Given the description of an element on the screen output the (x, y) to click on. 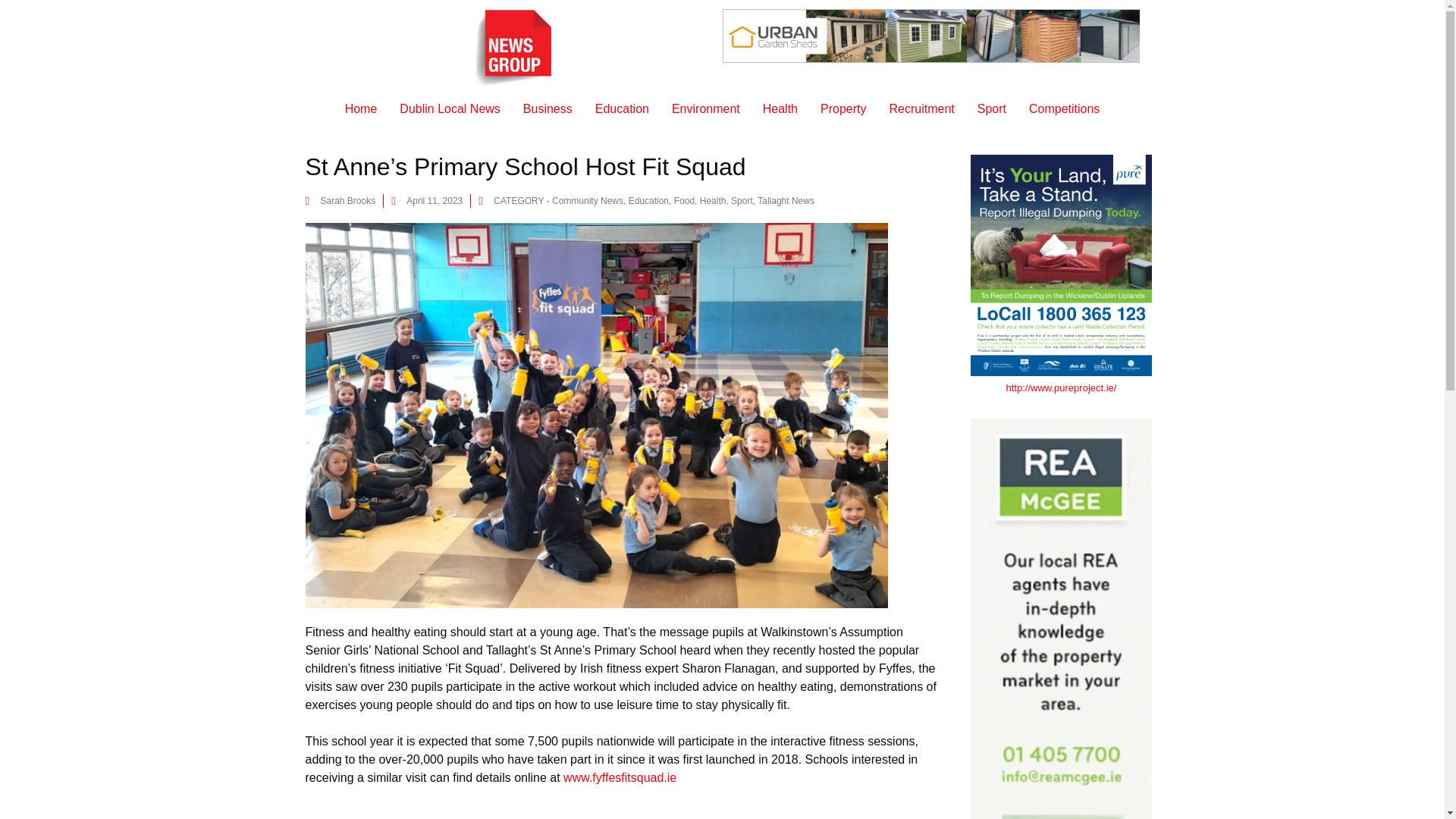
April 11, 2023 (427, 201)
Recruitment (921, 109)
Sarah Brooks (339, 201)
www.fyffesfitsquad.ie (620, 777)
Community News (587, 200)
Health (713, 200)
Competitions (1063, 109)
Tallaght News (785, 200)
Environment (706, 109)
Property (843, 109)
Sport (741, 200)
Dublin Local News (450, 109)
Home (360, 109)
Business (547, 109)
Food (684, 200)
